Given the description of an element on the screen output the (x, y) to click on. 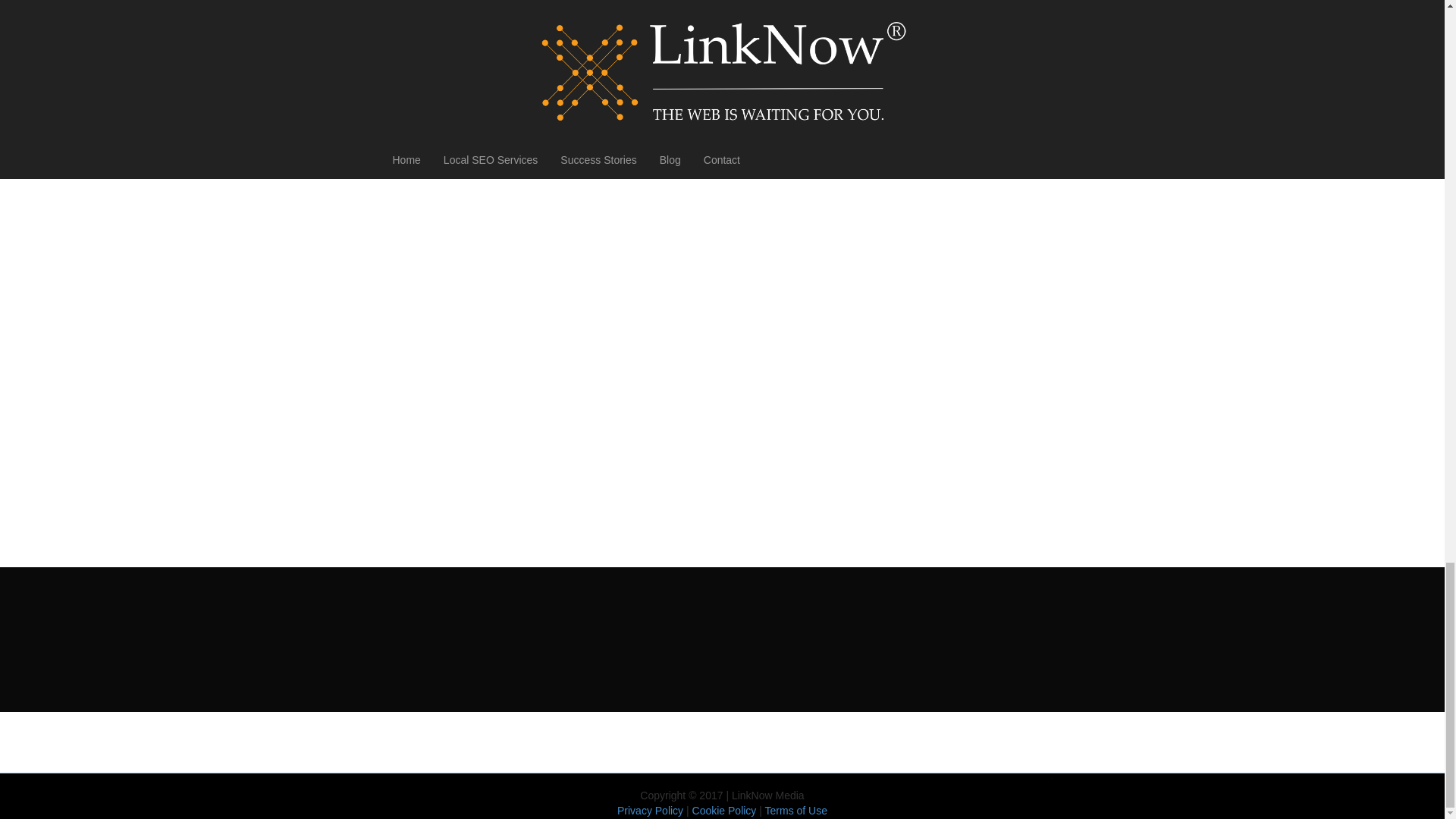
Cookie Policy (725, 810)
Terms of Use (796, 810)
Privacy Policy (649, 810)
